Given the description of an element on the screen output the (x, y) to click on. 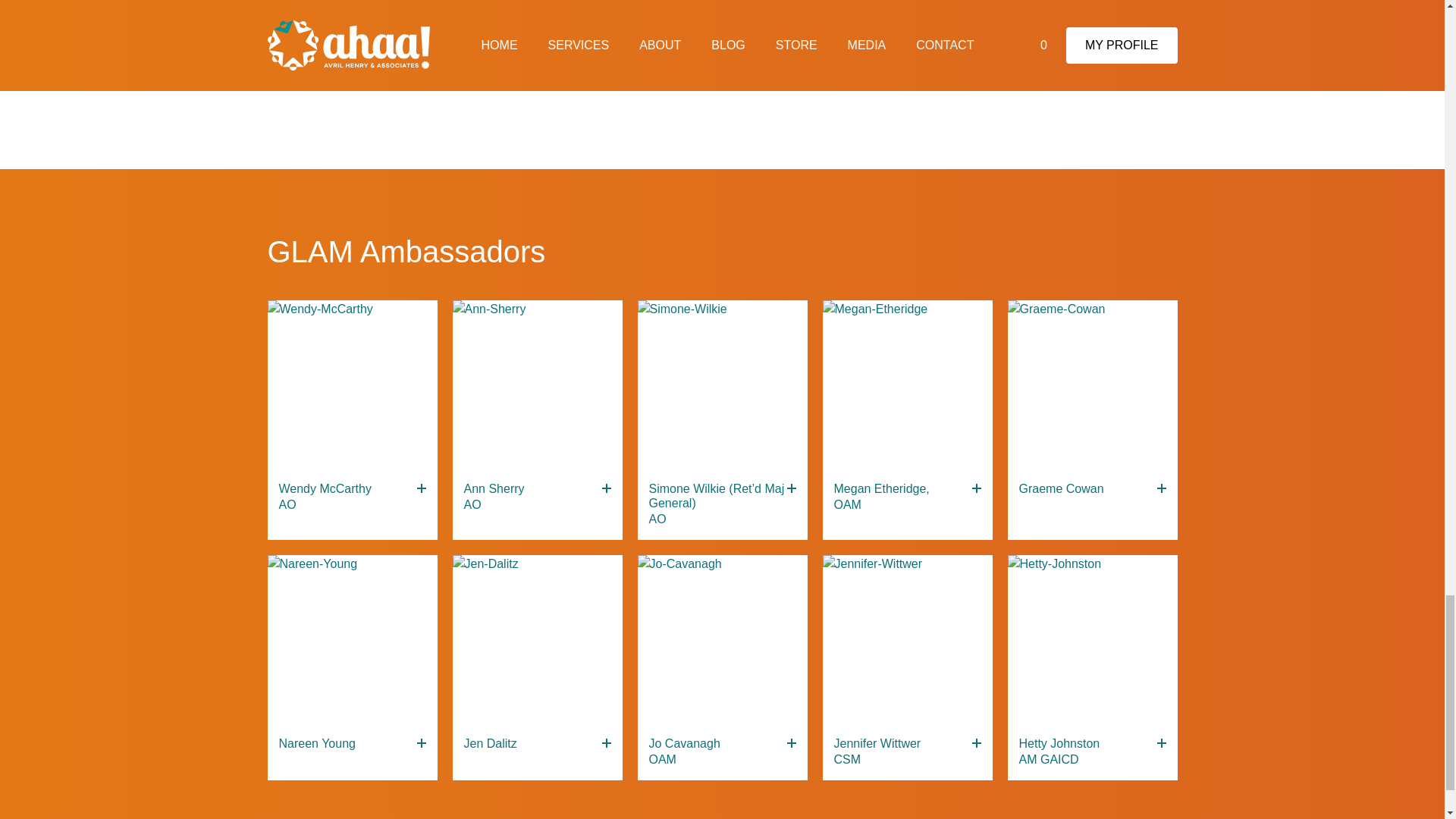
Graeme-Cowan (1091, 385)
Ann-Sherry (536, 385)
Simone-Wilkie (721, 385)
Jo-Cavanagh (721, 639)
Wendy-McCarthy (351, 385)
Nareen-Young (351, 639)
Jen-Dalitz (536, 639)
YouTube video player (721, 55)
Jennifer-Wittwer (906, 639)
Megan-Etheridge (906, 385)
